Given the description of an element on the screen output the (x, y) to click on. 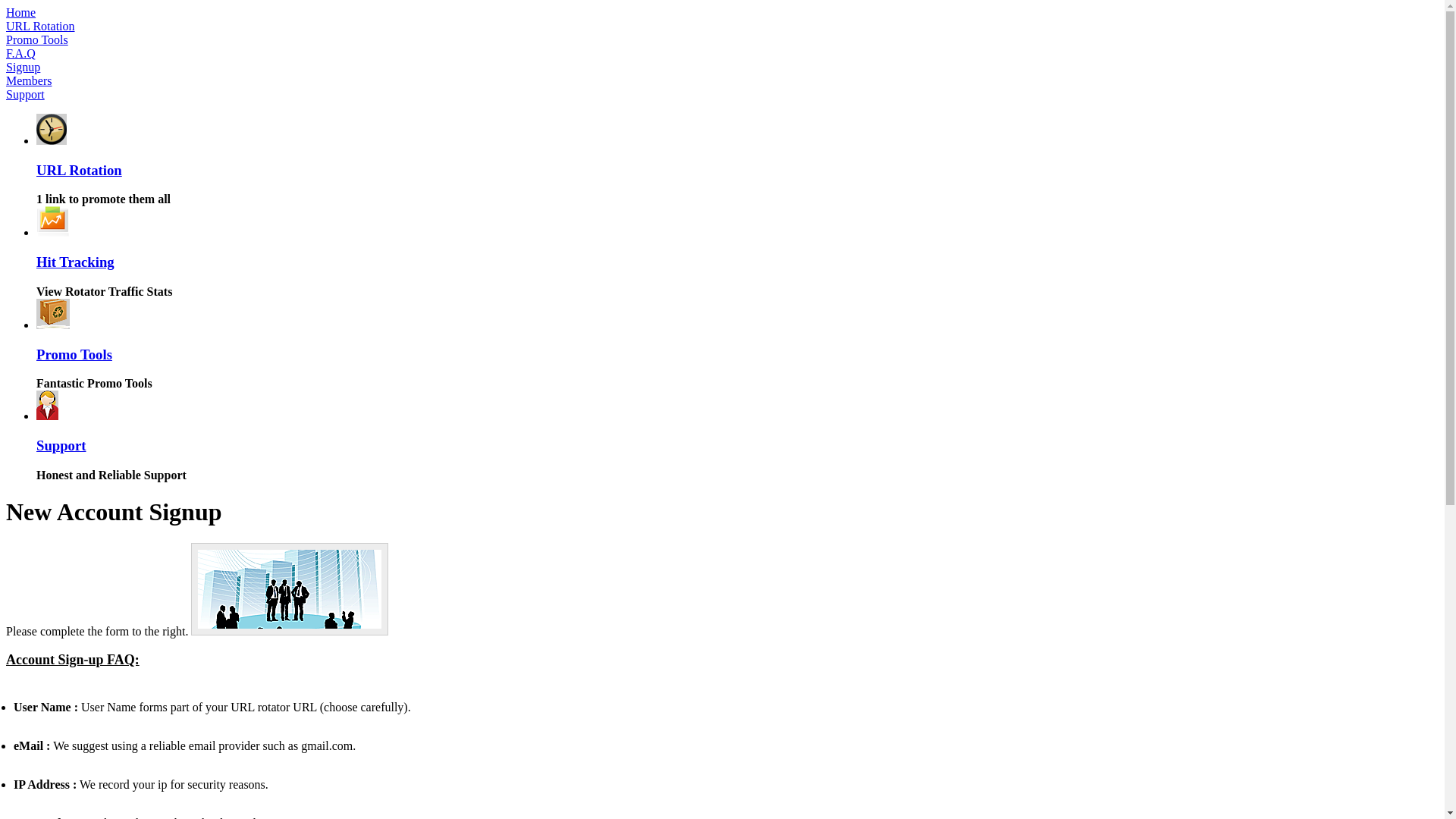
F.A.Q Element type: text (20, 53)
Promo Tools Element type: text (74, 354)
Home Element type: text (20, 12)
Support Element type: text (61, 445)
Signup Element type: text (23, 66)
Members Element type: text (28, 80)
URL Rotation Element type: text (79, 170)
Hit Tracking Element type: text (75, 261)
Support Element type: text (25, 93)
URL Rotation Element type: text (40, 25)
Promo Tools Element type: text (37, 39)
